Given the description of an element on the screen output the (x, y) to click on. 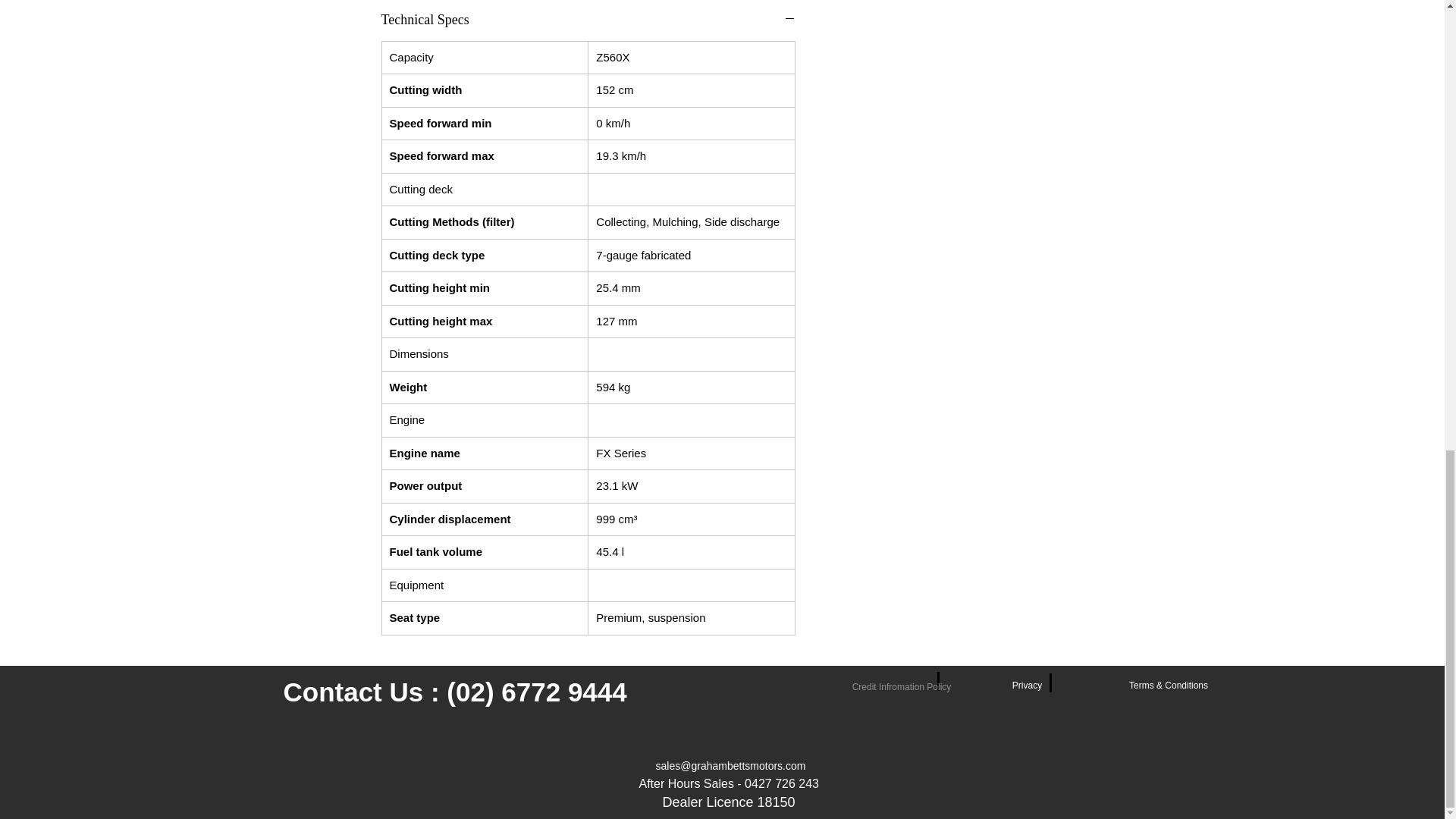
Privacy (1027, 685)
Technical Specs (587, 19)
Credit Infromation Policy (900, 686)
